Given the description of an element on the screen output the (x, y) to click on. 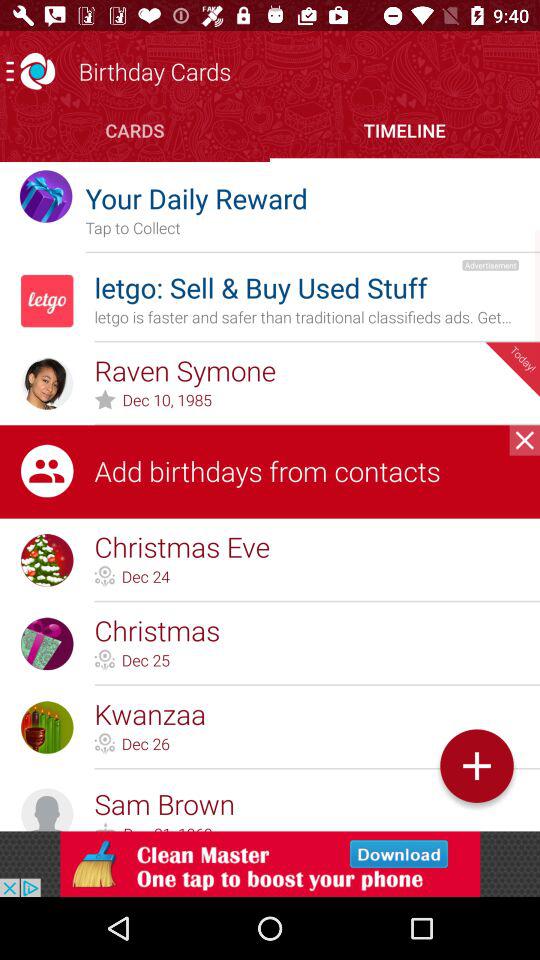
add button (476, 765)
